Given the description of an element on the screen output the (x, y) to click on. 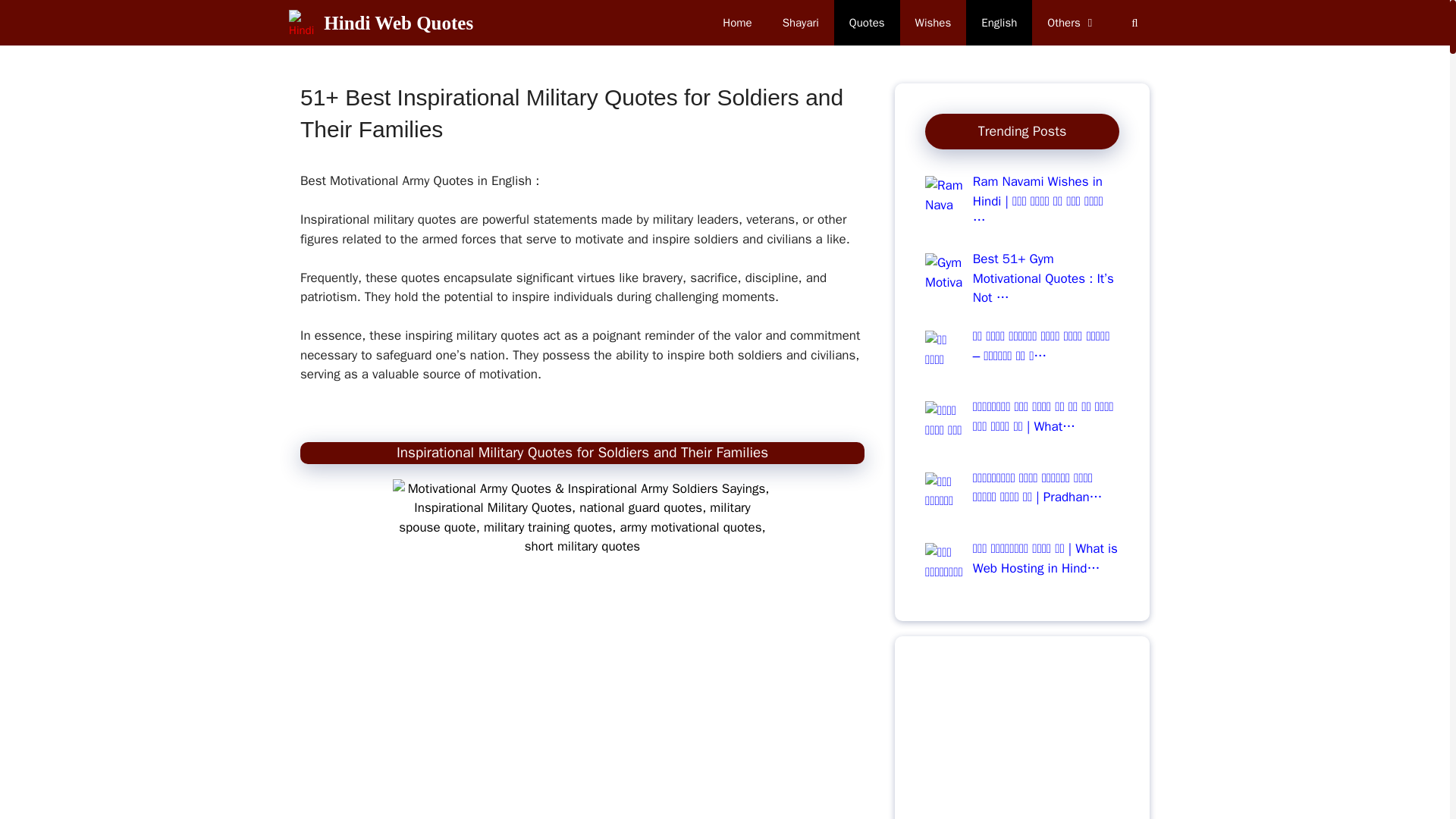
Shayari (800, 22)
Wishes (932, 22)
English (999, 22)
Quotes (866, 22)
Others (1072, 22)
Hindi Web Quotes (398, 22)
Home (737, 22)
